Given the description of an element on the screen output the (x, y) to click on. 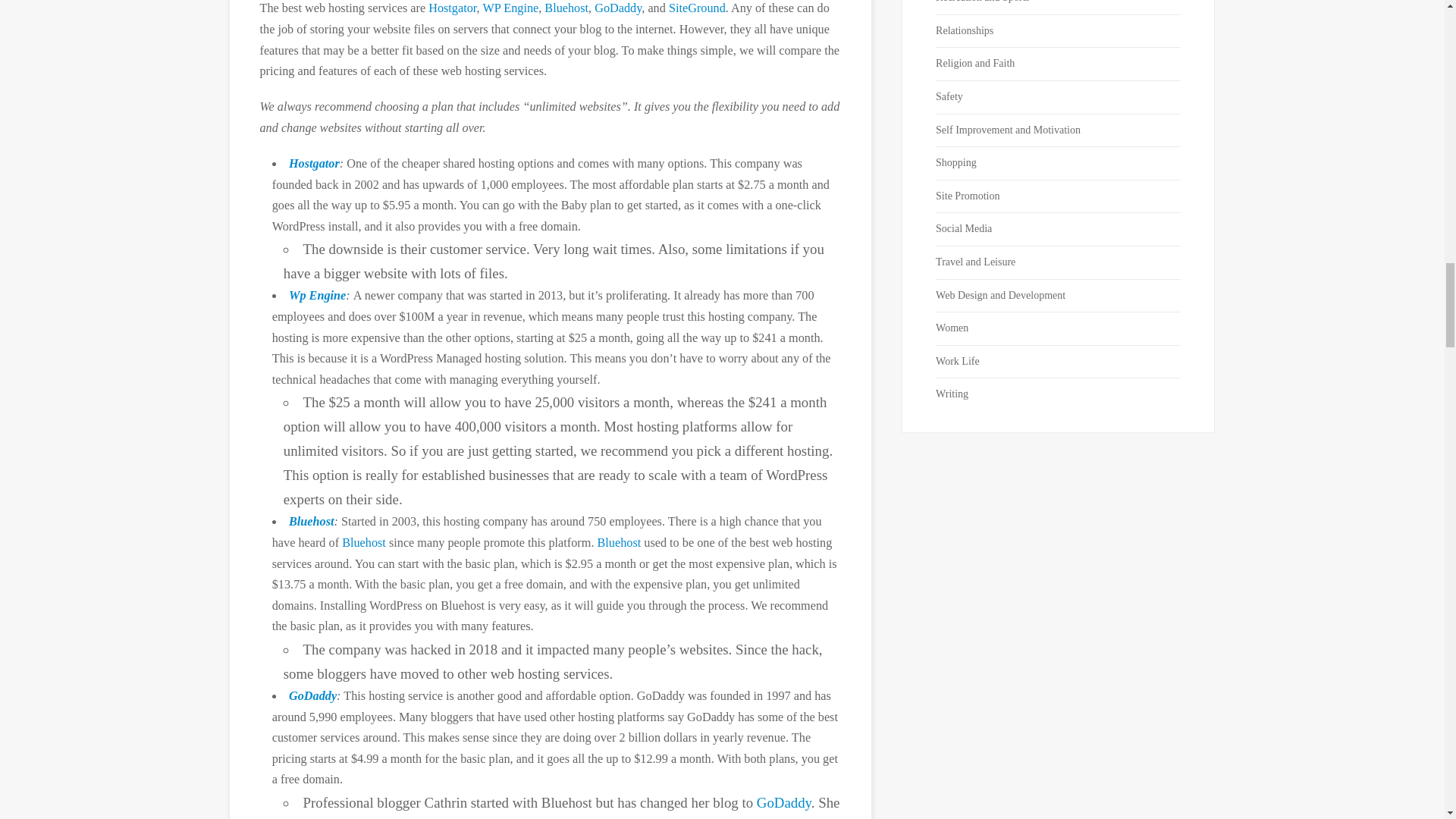
Cheap Hosting (452, 8)
Cheap Hosting (313, 163)
SG Hosting (696, 8)
